Given the description of an element on the screen output the (x, y) to click on. 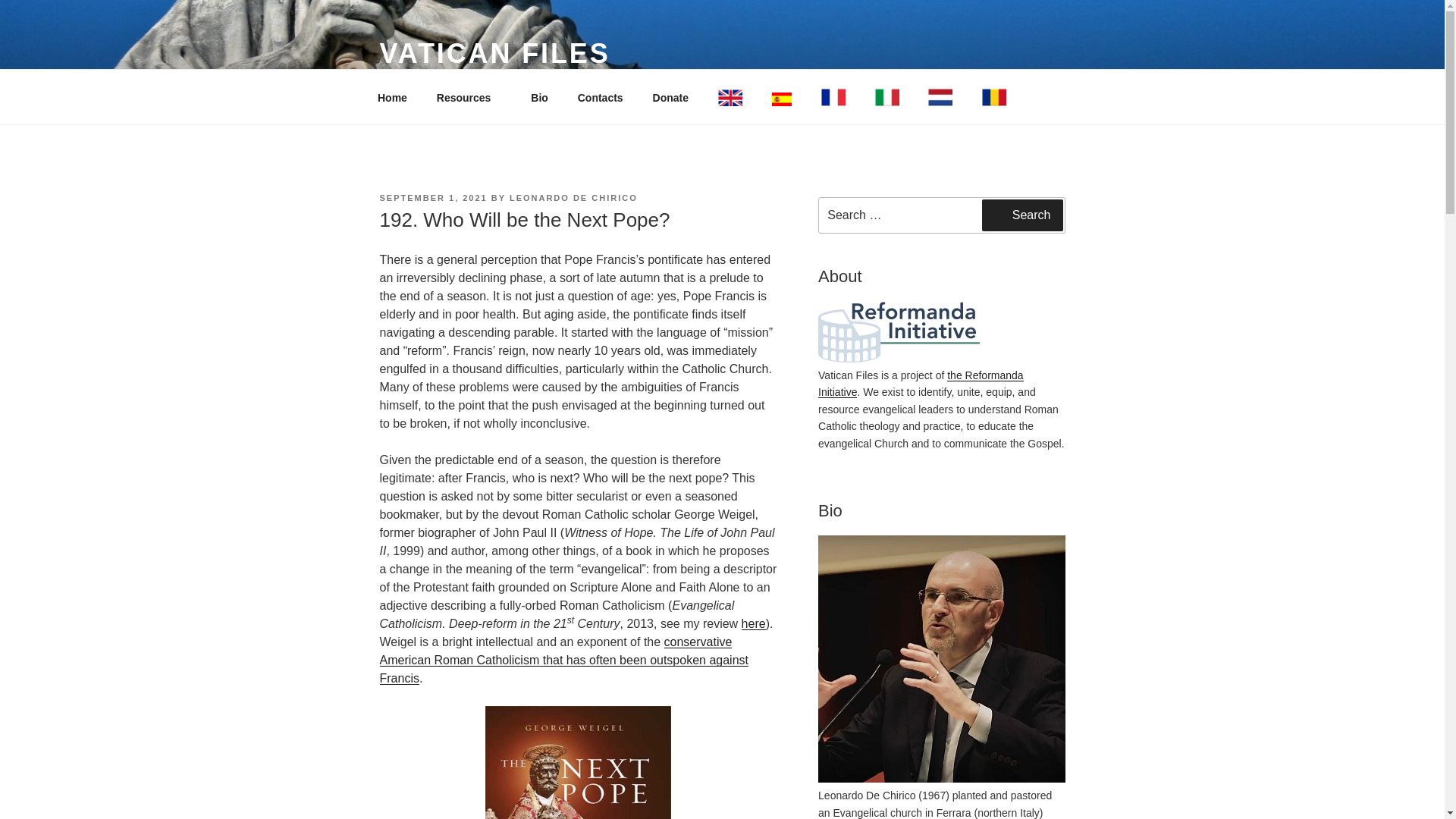
Bio (540, 97)
Home (392, 97)
LEONARDO DE CHIRICO (573, 197)
SEPTEMBER 1, 2021 (432, 197)
VATICAN FILES (494, 52)
Donate (670, 97)
Contacts (600, 97)
Resources (469, 97)
here (753, 623)
